Given the description of an element on the screen output the (x, y) to click on. 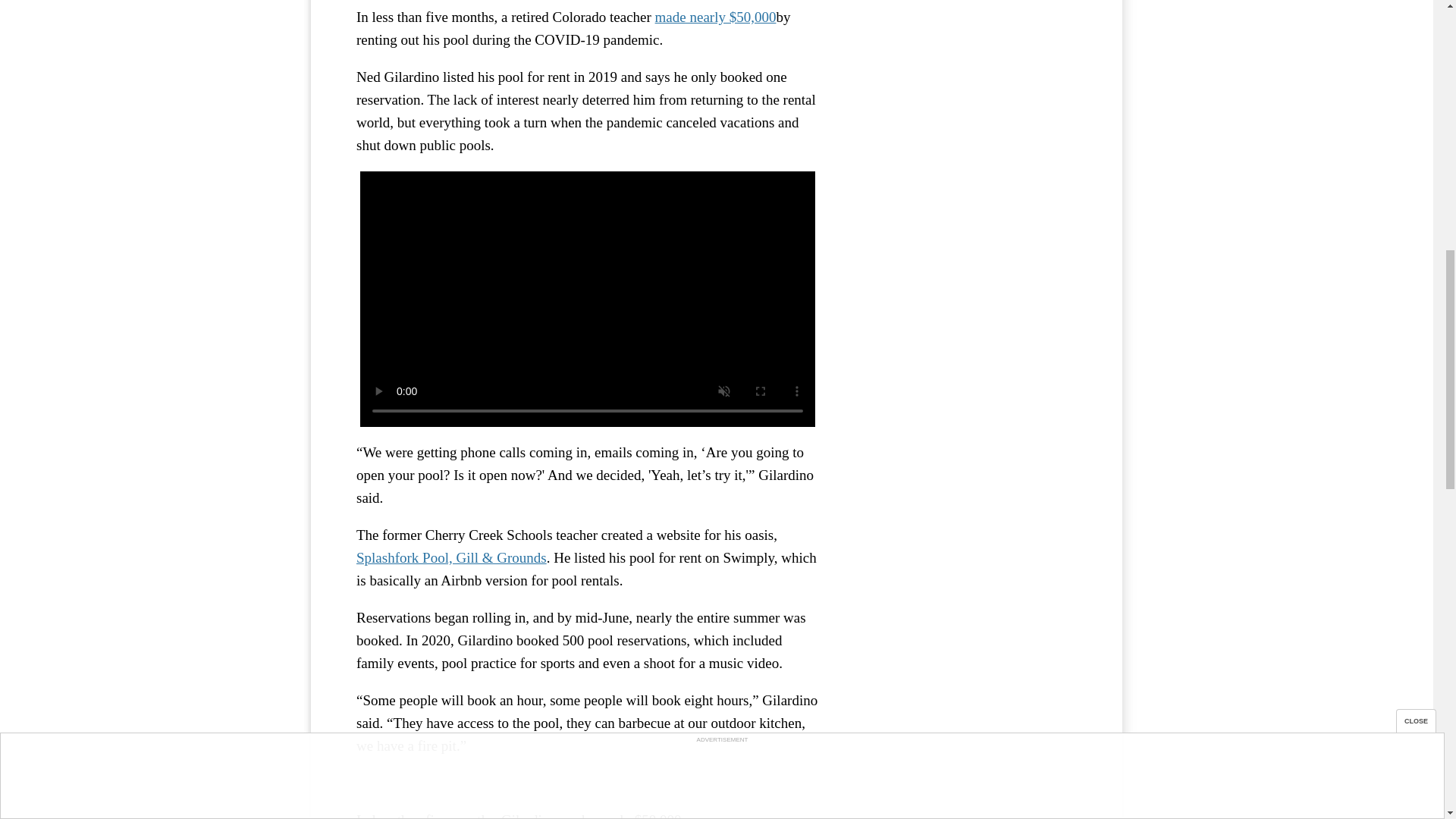
3rd party ad content (962, 27)
